Given the description of an element on the screen output the (x, y) to click on. 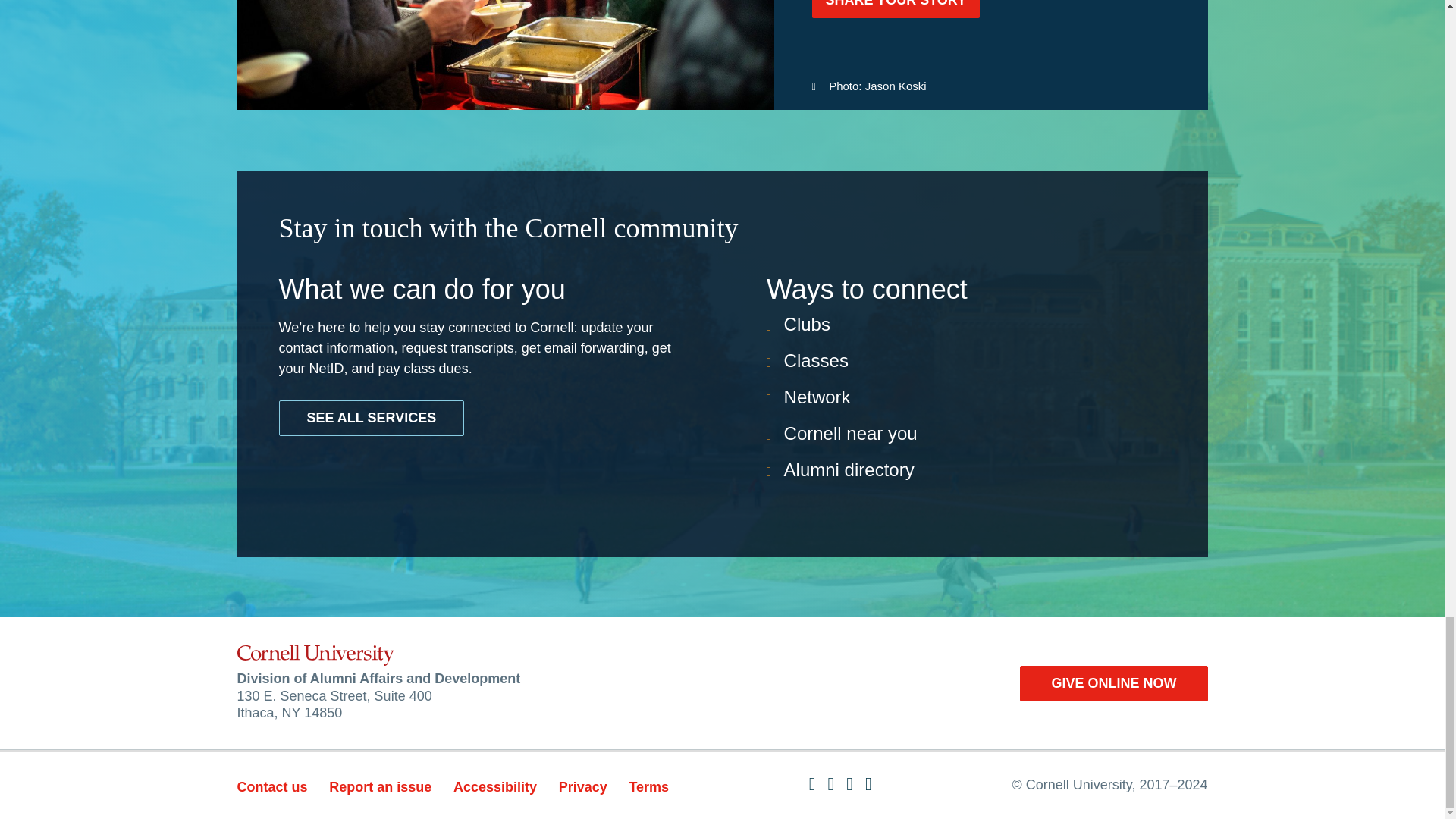
Clubs (806, 323)
SEE ALL SERVICES (371, 417)
SHARE YOUR STORY (894, 9)
